Given the description of an element on the screen output the (x, y) to click on. 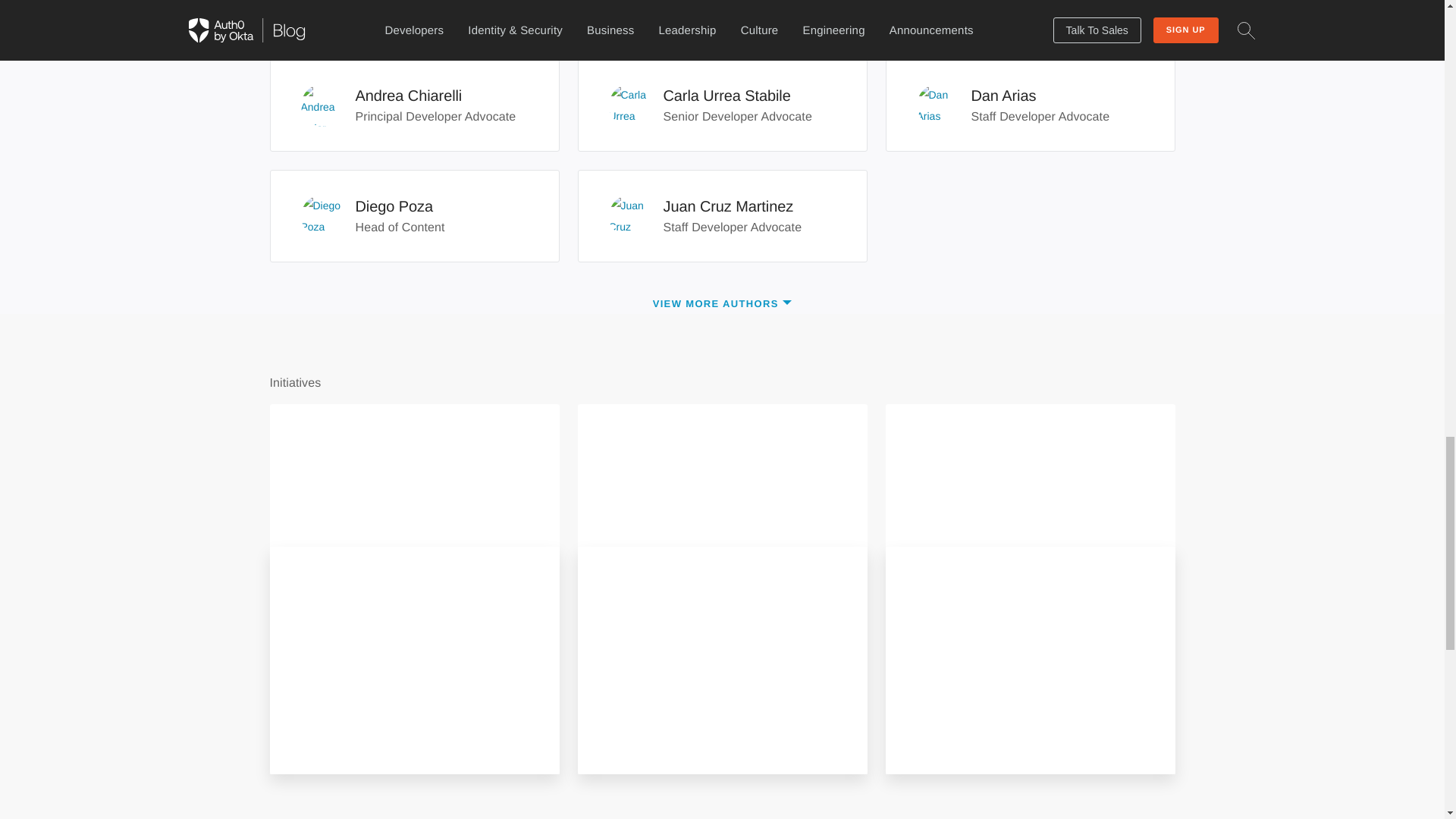
VIEW MORE AUTHORS (722, 303)
Ambassadors Program (1028, 105)
JOIN US (692, 605)
Guest Authors (721, 105)
JOIN US (335, 727)
